Given the description of an element on the screen output the (x, y) to click on. 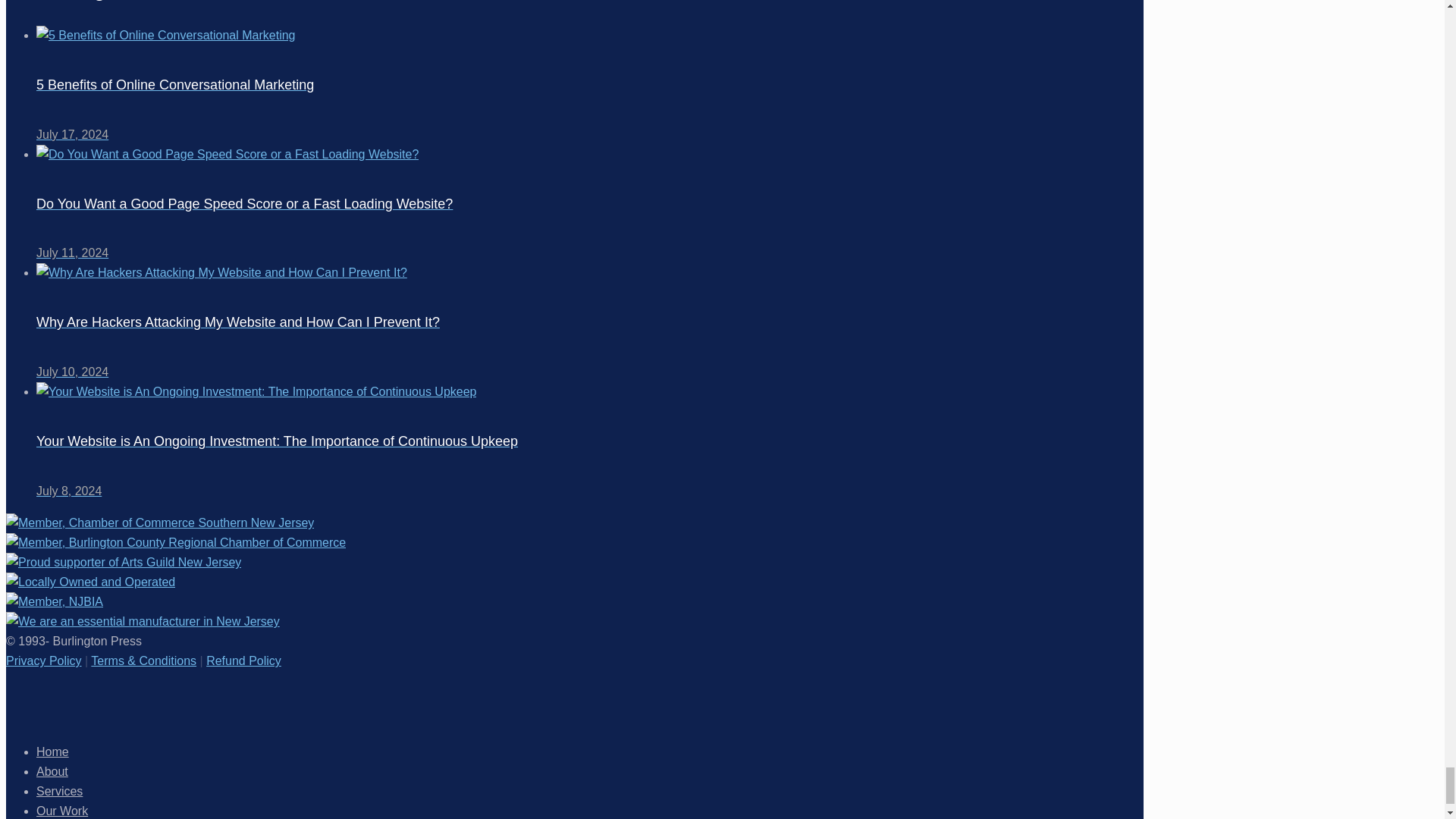
Member, Burlington County Regional Chamber of Commerce (175, 542)
Member, Chamber of Commerce Southern New Jersey (159, 523)
